Given the description of an element on the screen output the (x, y) to click on. 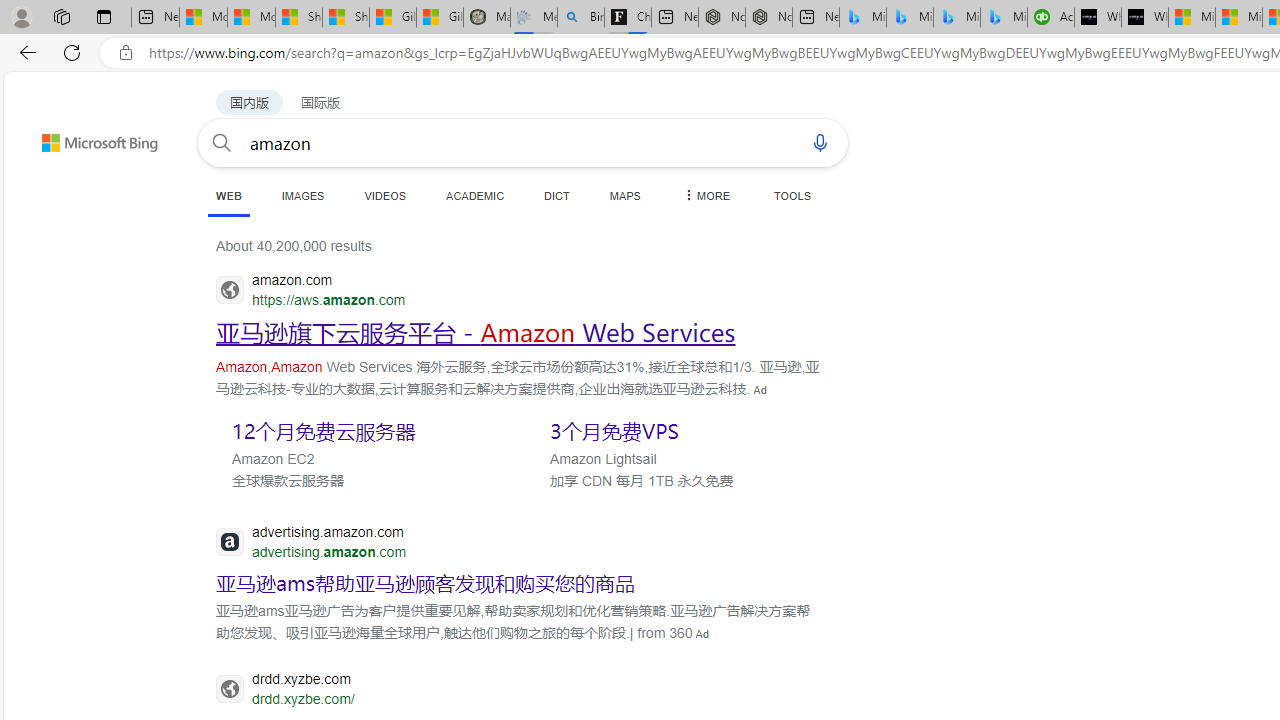
WEB (228, 195)
Search button (221, 142)
SERP,5547 (476, 331)
Microsoft Bing Travel - Shangri-La Hotel Bangkok (1003, 17)
DICT (557, 195)
ACADEMIC (475, 195)
TOOLS (792, 195)
Skip to content (63, 133)
MORE (705, 195)
VIDEOS (384, 195)
Gilma and Hector both pose tropical trouble for Hawaii (440, 17)
